Given the description of an element on the screen output the (x, y) to click on. 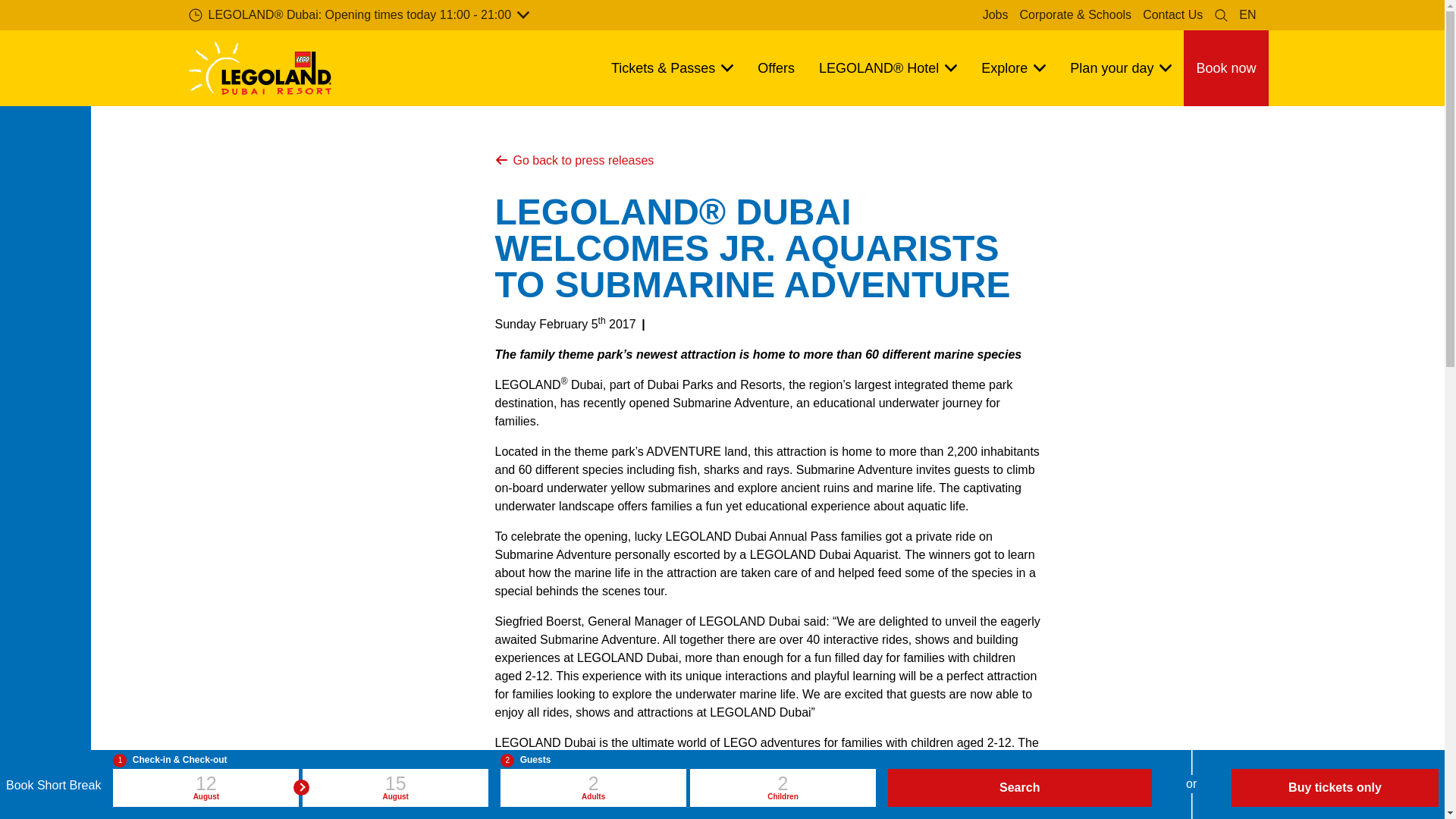
Contact Us (1172, 14)
Select Language (1246, 14)
Search (1220, 14)
Explore (1013, 68)
Jobs (994, 14)
